Given the description of an element on the screen output the (x, y) to click on. 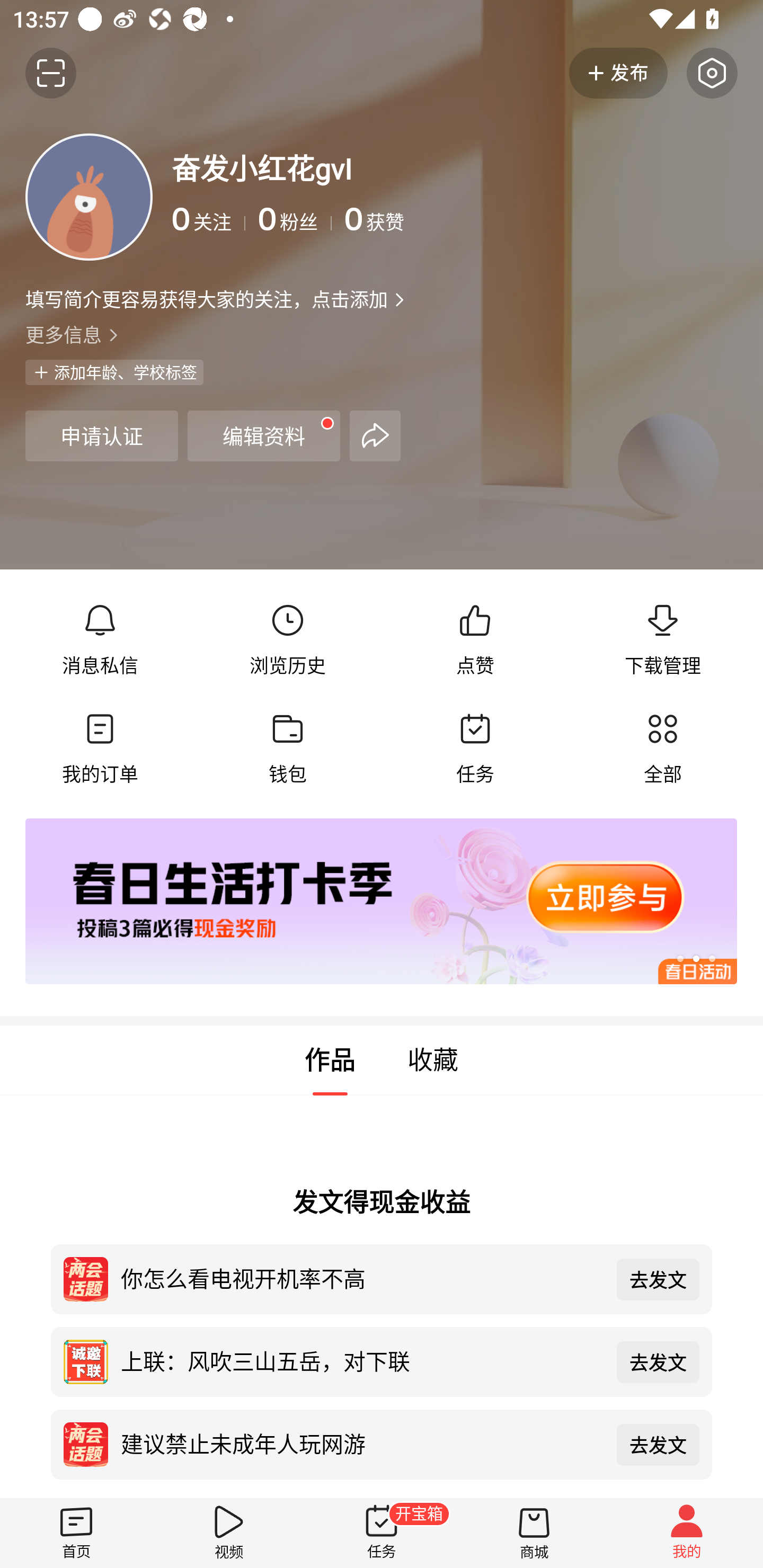
扫一扫 (50, 72)
发布 (618, 72)
设置 (711, 72)
头像 (88, 196)
0 关注 (208, 219)
0 粉丝 (294, 219)
0 获赞 (540, 219)
填写简介更容易获得大家的关注，点击添加 (206, 298)
更多信息 (381, 333)
添加年龄、学校标签 (114, 372)
申请认证 (101, 435)
编辑资料 (263, 435)
分享 (374, 435)
消息私信 (99, 639)
浏览历史 (287, 639)
点赞 (475, 639)
下载管理 (662, 639)
我的订单 (99, 748)
钱包 (287, 748)
任务 (475, 748)
全部 (662, 748)
图片链接 (368, 901)
作品 (329, 1060)
收藏 (432, 1060)
你怎么看电视开机率不高 (362, 1278)
去发文 (657, 1279)
上联：风吹三山五岳，对下联 (362, 1360)
去发文 (657, 1361)
建议禁止未成年人玩网游 (362, 1443)
去发文 (657, 1444)
首页 (76, 1532)
视频 (228, 1532)
任务 开宝箱 (381, 1532)
商城 (533, 1532)
我的 (686, 1532)
